Given the description of an element on the screen output the (x, y) to click on. 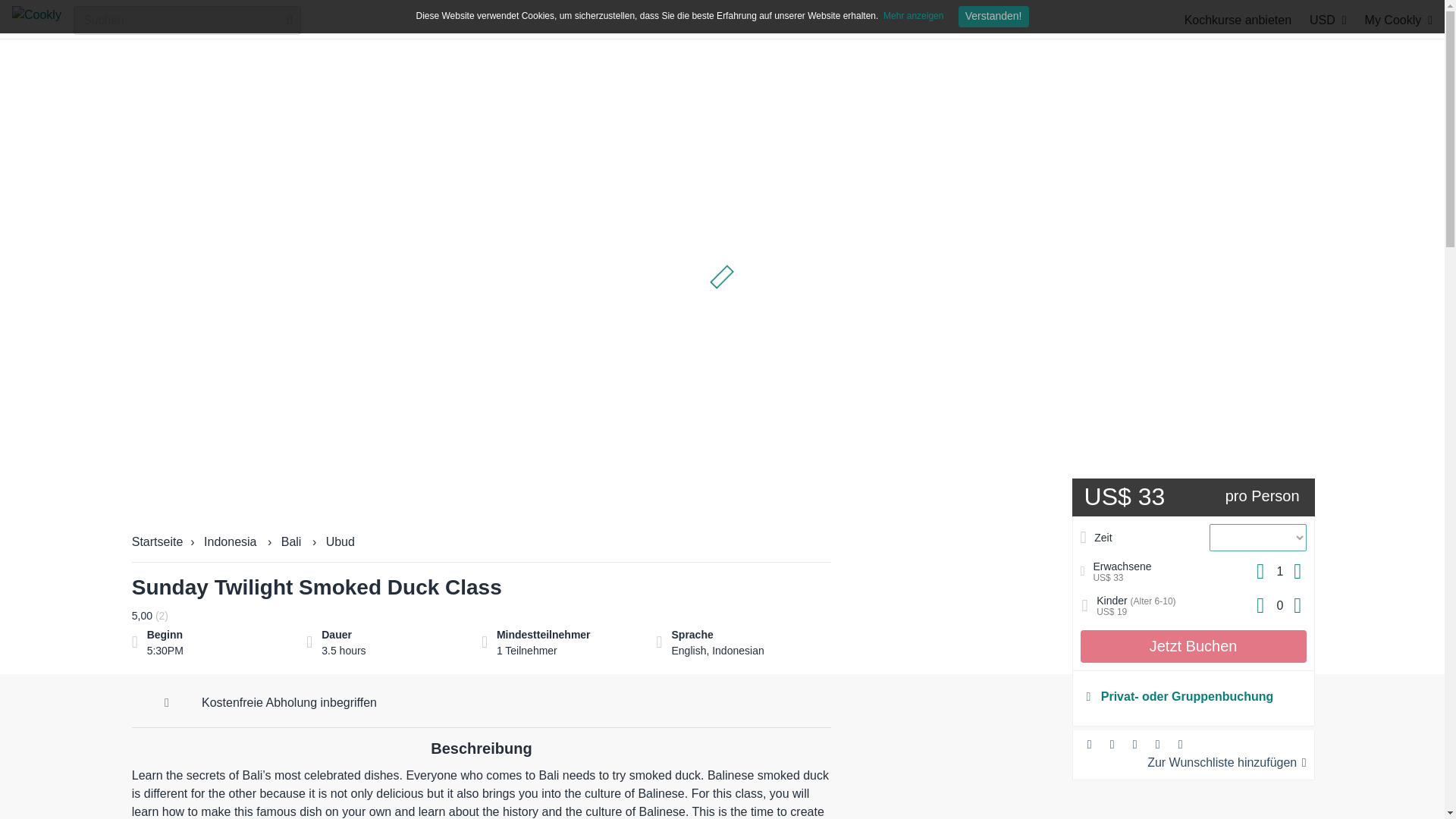
Kochkurse anbieten (1238, 20)
Bali (291, 541)
Ubud (340, 541)
Jetzt Buchen (1193, 645)
Startseite (157, 541)
   Privat- oder Gruppenbuchung (1193, 696)
Indonesia (229, 541)
USD  (1327, 20)
